Given the description of an element on the screen output the (x, y) to click on. 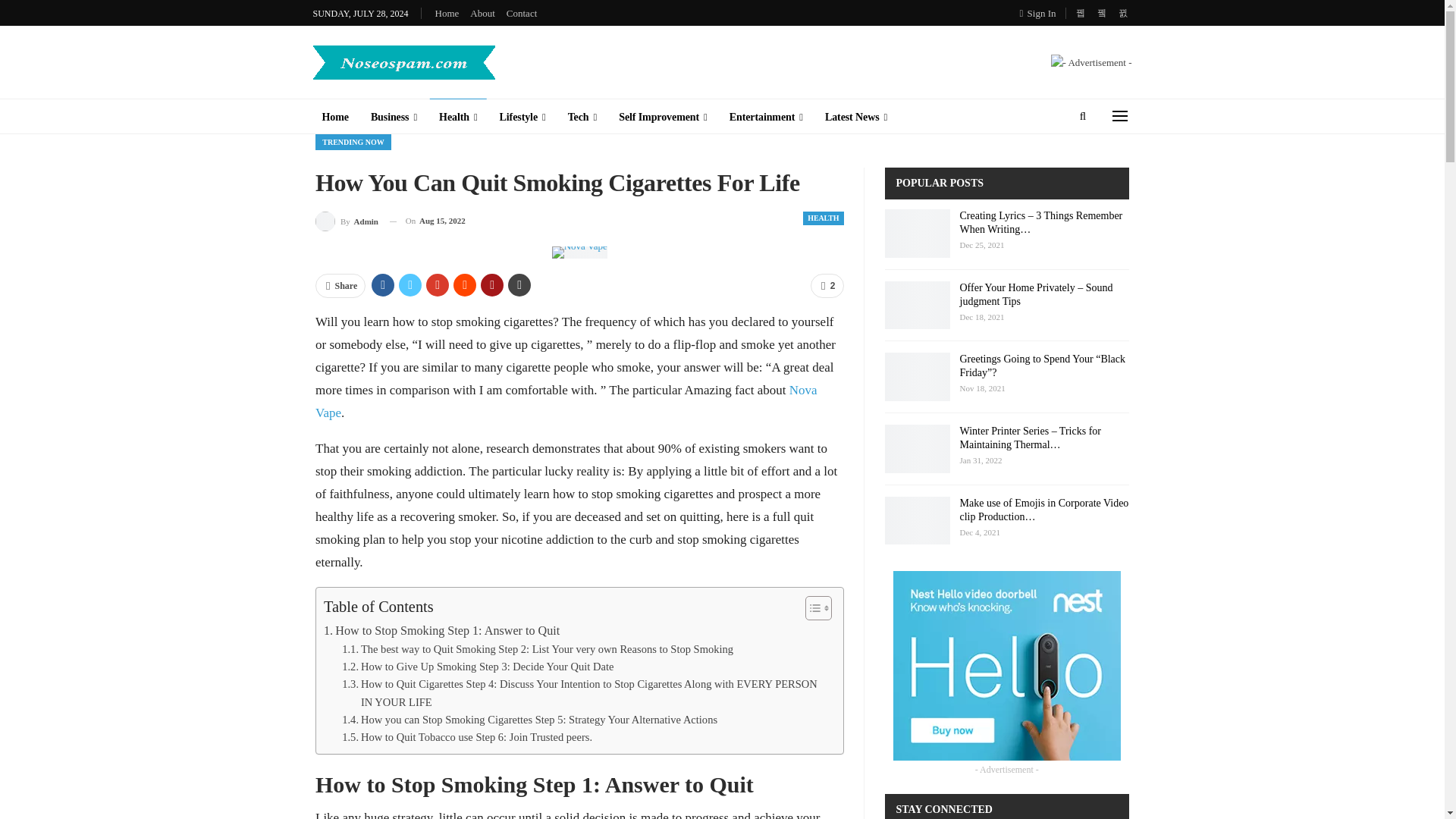
Business (393, 117)
Sign In (1041, 13)
How to Give Up Smoking Step 3: Decide Your Quit Date (477, 666)
Tech (583, 117)
Health (457, 117)
Browse Author Articles (346, 220)
About (482, 12)
Home (447, 12)
Home (334, 117)
Contact (521, 12)
How to Stop Smoking Step 1: Answer to Quit (441, 630)
How to Quit Tobacco use Step 6: Join Trusted peers. (467, 737)
